Given the description of an element on the screen output the (x, y) to click on. 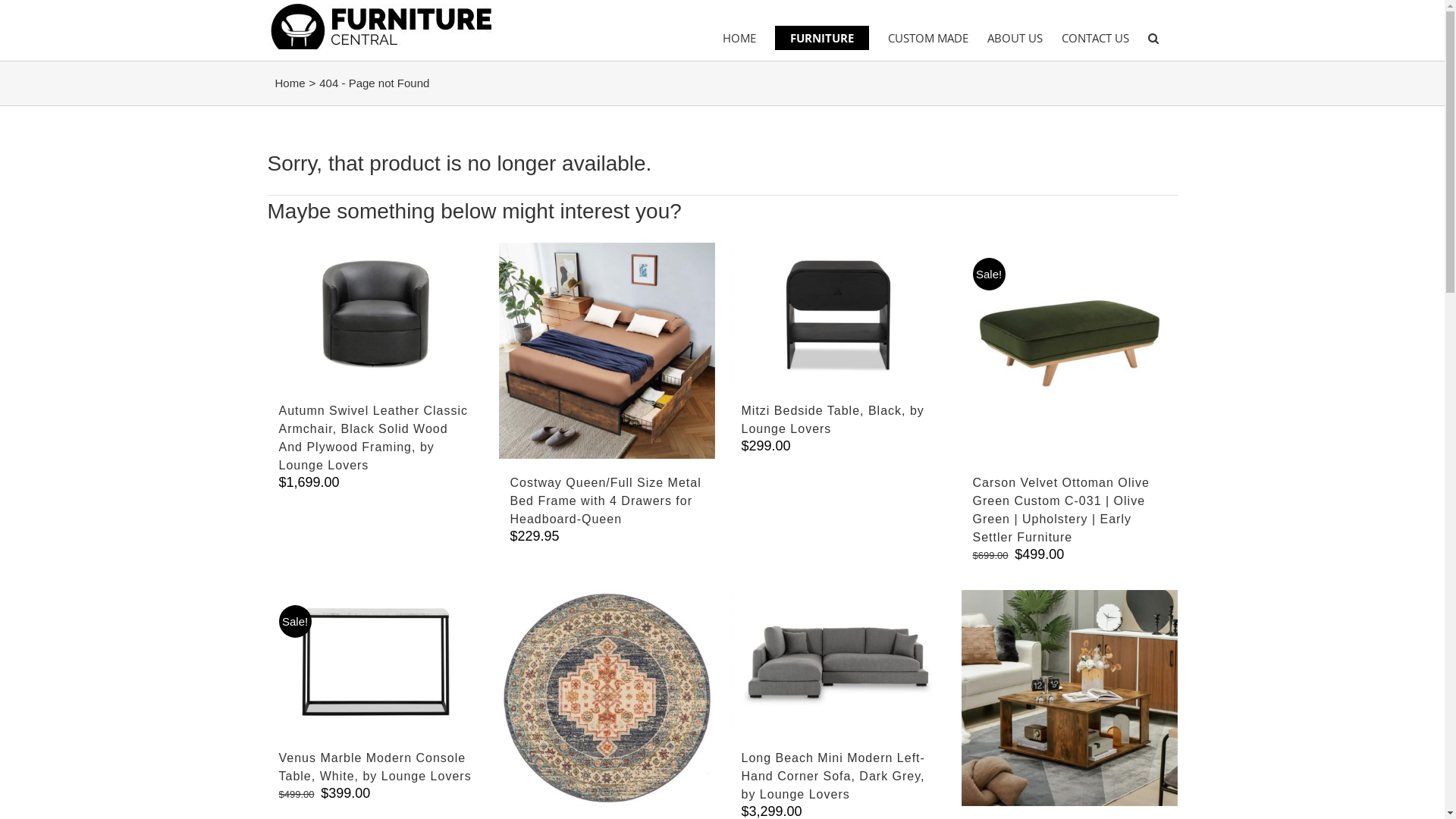
CUSTOM MADE Element type: text (927, 37)
Sale! Element type: text (374, 661)
HOME Element type: text (738, 37)
Mitzi Bedside Table, Black, by Lounge Lovers
$299.00 Element type: text (837, 426)
ABOUT US Element type: text (1014, 37)
FURNITURE Element type: text (822, 37)
Home Element type: text (289, 82)
Sale! Element type: text (1069, 350)
Search Element type: hover (1153, 37)
CONTACT US Element type: text (1095, 37)
